Given the description of an element on the screen output the (x, y) to click on. 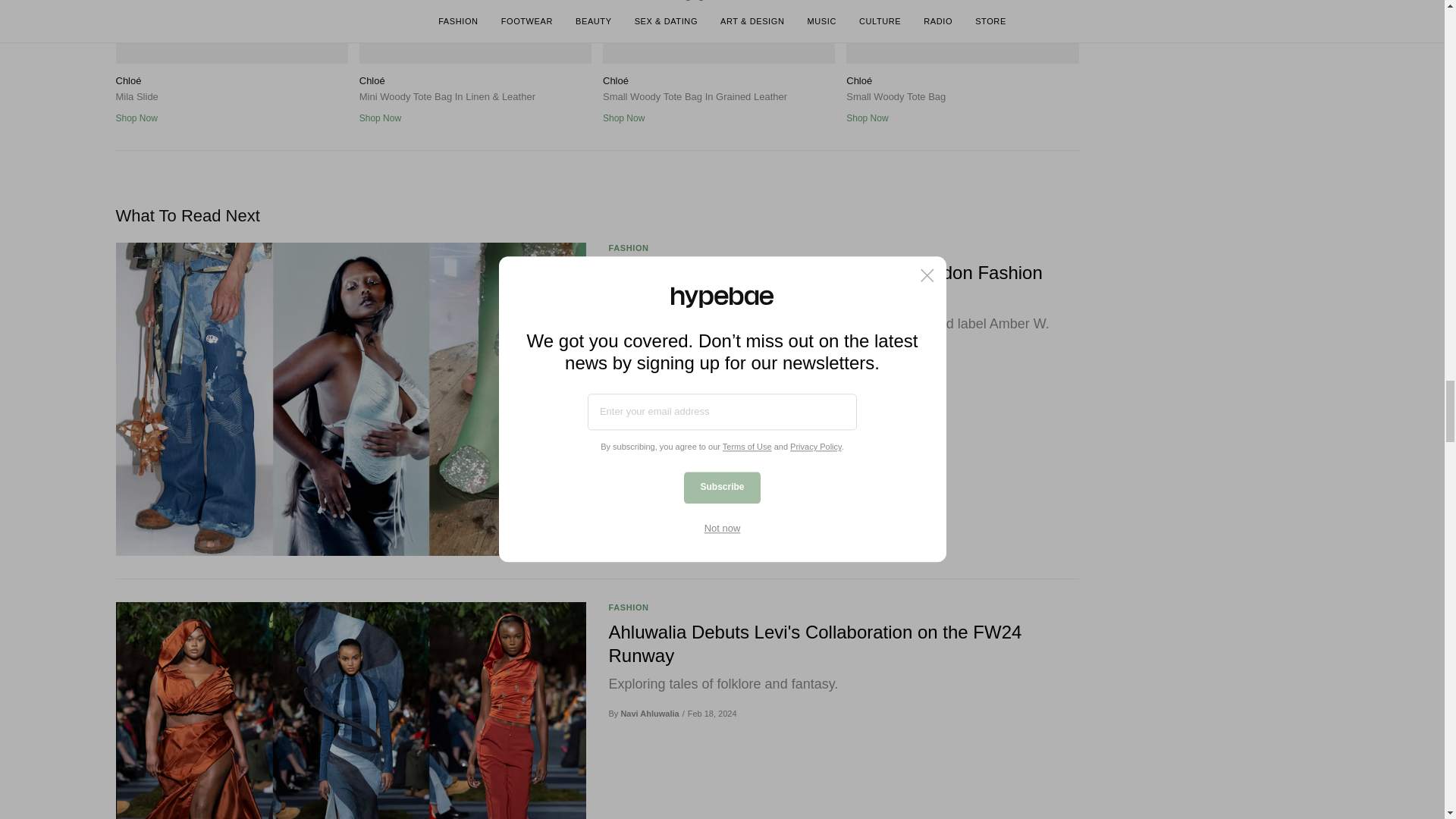
Mila Slide (231, 31)
Small Woody Tote Bag (961, 31)
Small Woody Tote Bag In Grained Leather (718, 31)
